Given the description of an element on the screen output the (x, y) to click on. 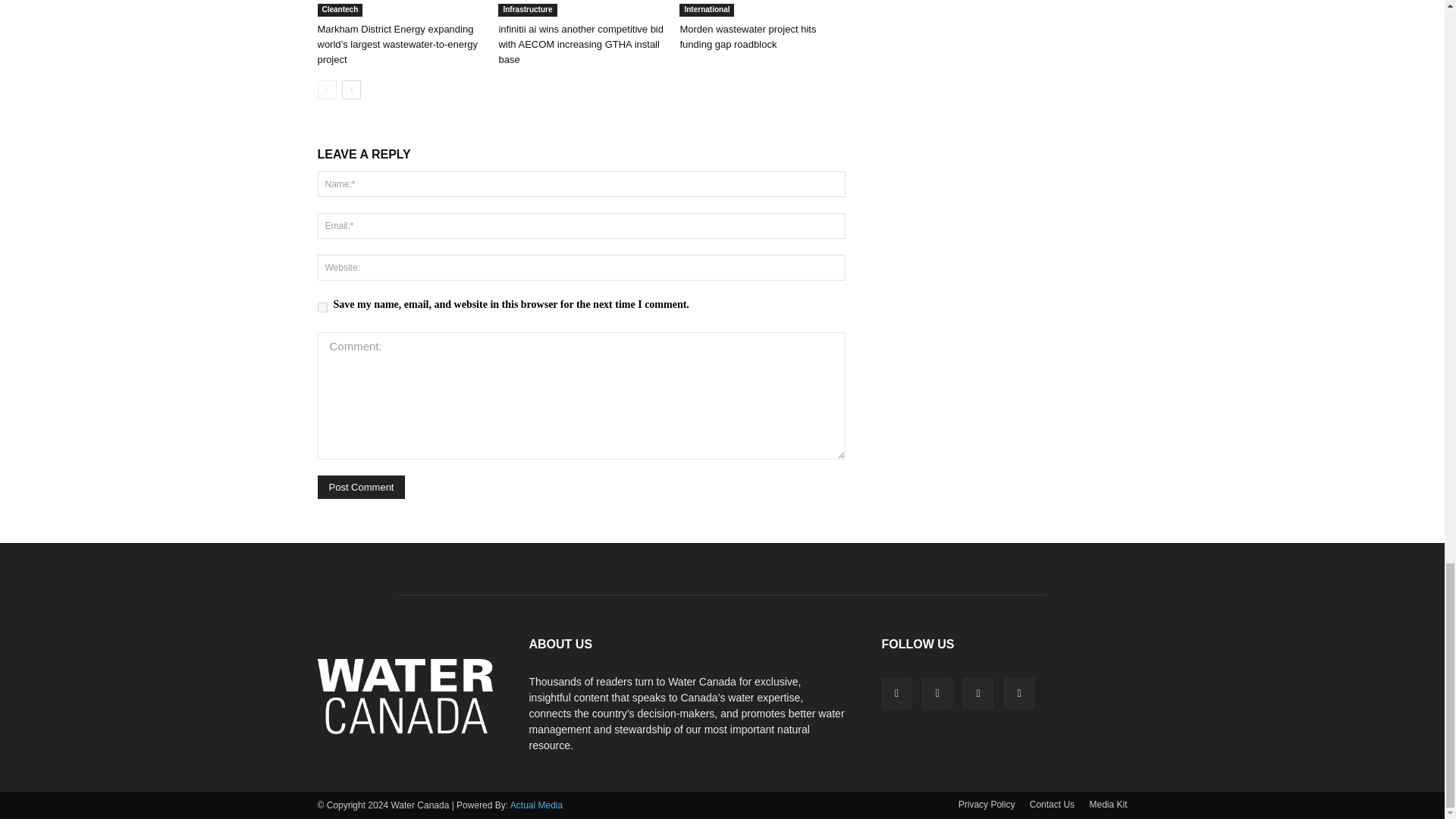
yes (321, 307)
Post Comment (360, 486)
